Given the description of an element on the screen output the (x, y) to click on. 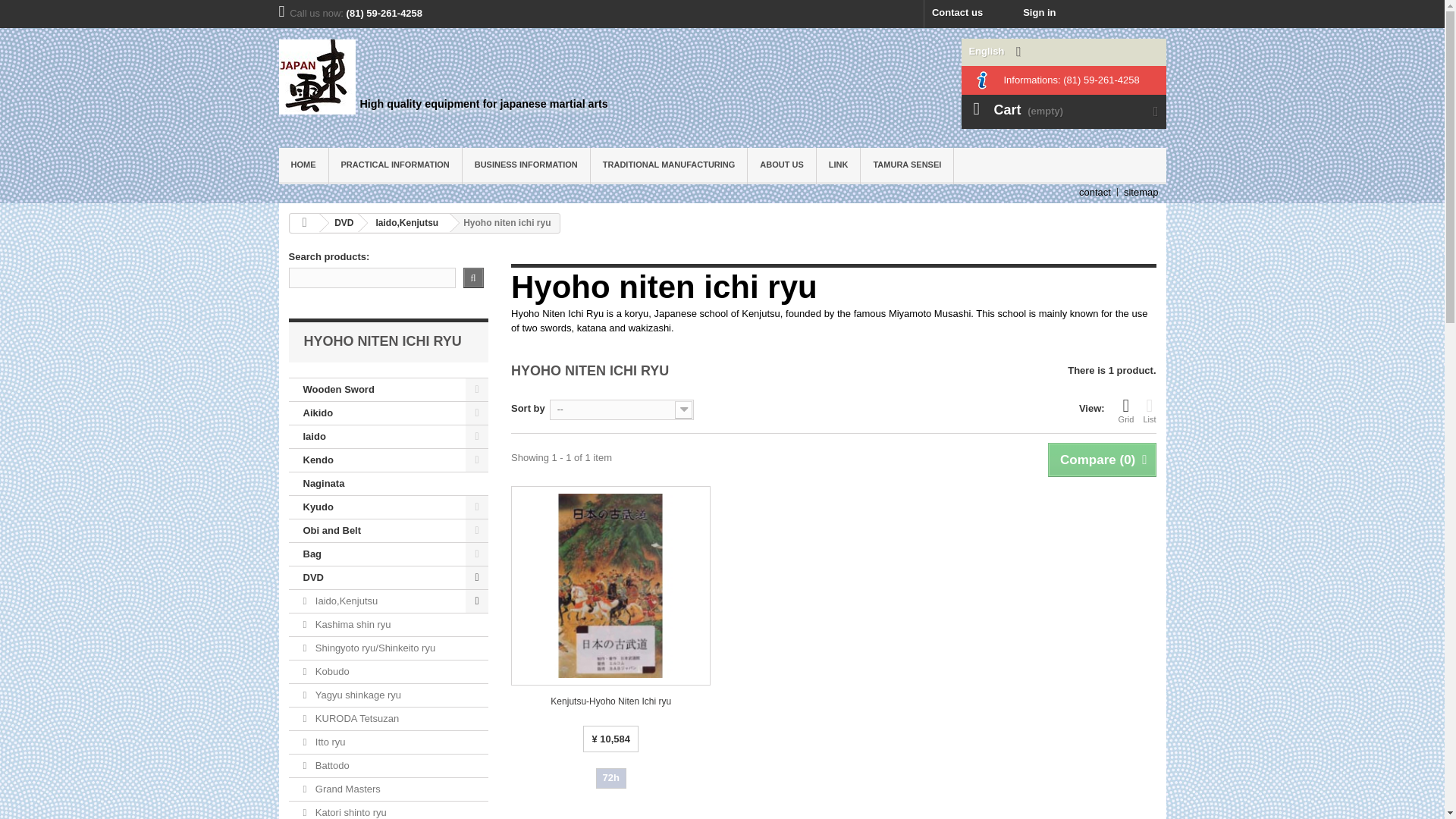
Link (838, 166)
SINONOME Twitter (1152, 13)
Contact us (957, 13)
SINONOME Google plus (1126, 13)
Log in to your customer account (1030, 13)
Sign in (1030, 13)
Business information (526, 166)
View my shopping cart (1063, 111)
Traditional manufacturing (669, 166)
TAMURA sensei  (906, 166)
SINONOME Japan (495, 76)
Home (304, 166)
Practical information (395, 166)
HOME (304, 166)
Contact us (957, 13)
